Given the description of an element on the screen output the (x, y) to click on. 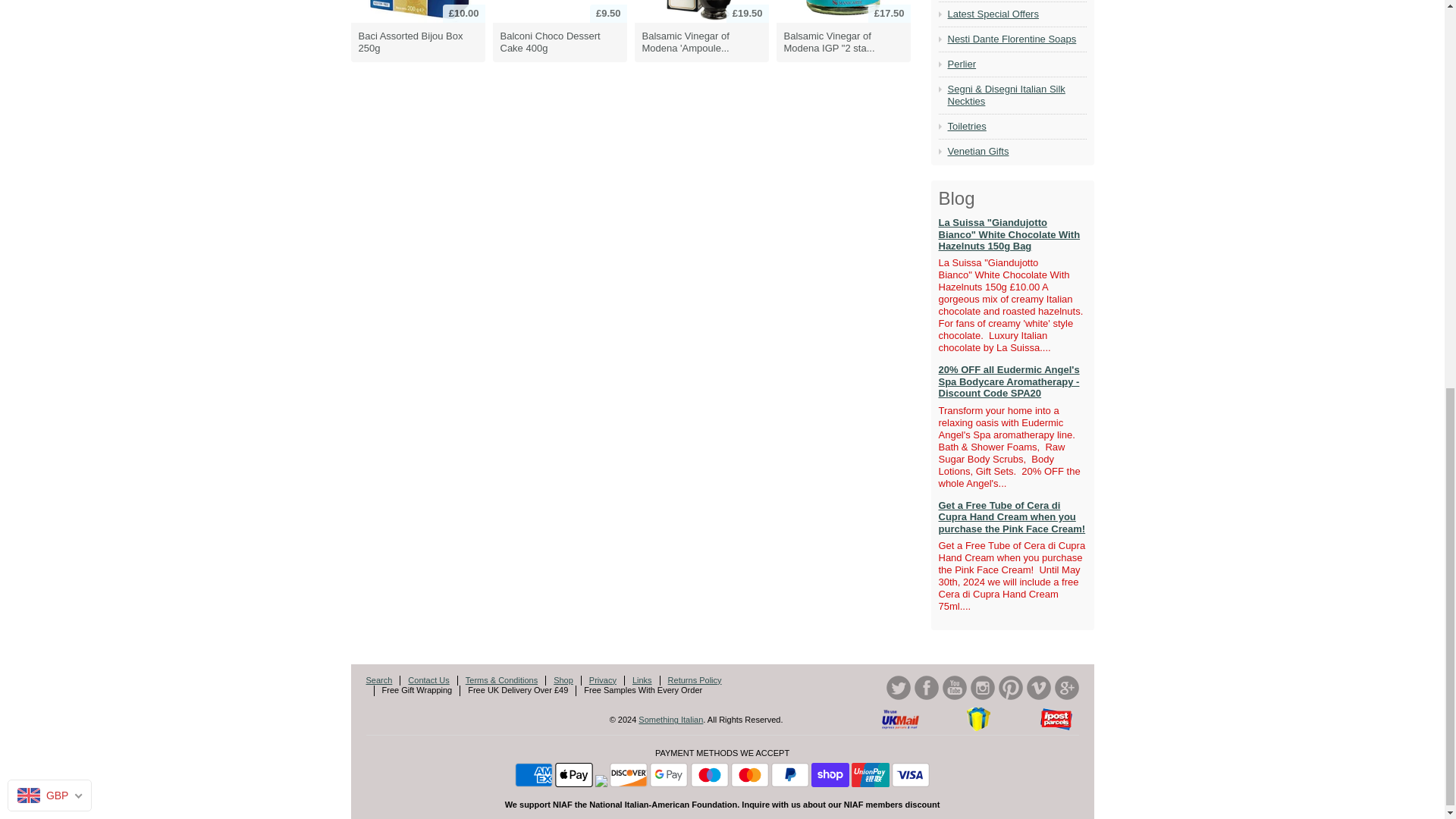
Nesti Dante Florentine Soaps (1016, 39)
Baci Assorted Bijou Box 250g (417, 42)
Latest Special Offers (1016, 14)
Baci Assorted Bijou Box 250g (417, 11)
Balconi Choco Dessert Cake 400g (560, 42)
Balconi Choco Dessert Cake 400g (560, 11)
Balsamic Vinegar of Modena 'Ampoule' Aged 10 Years 250ml (700, 11)
